Given the description of an element on the screen output the (x, y) to click on. 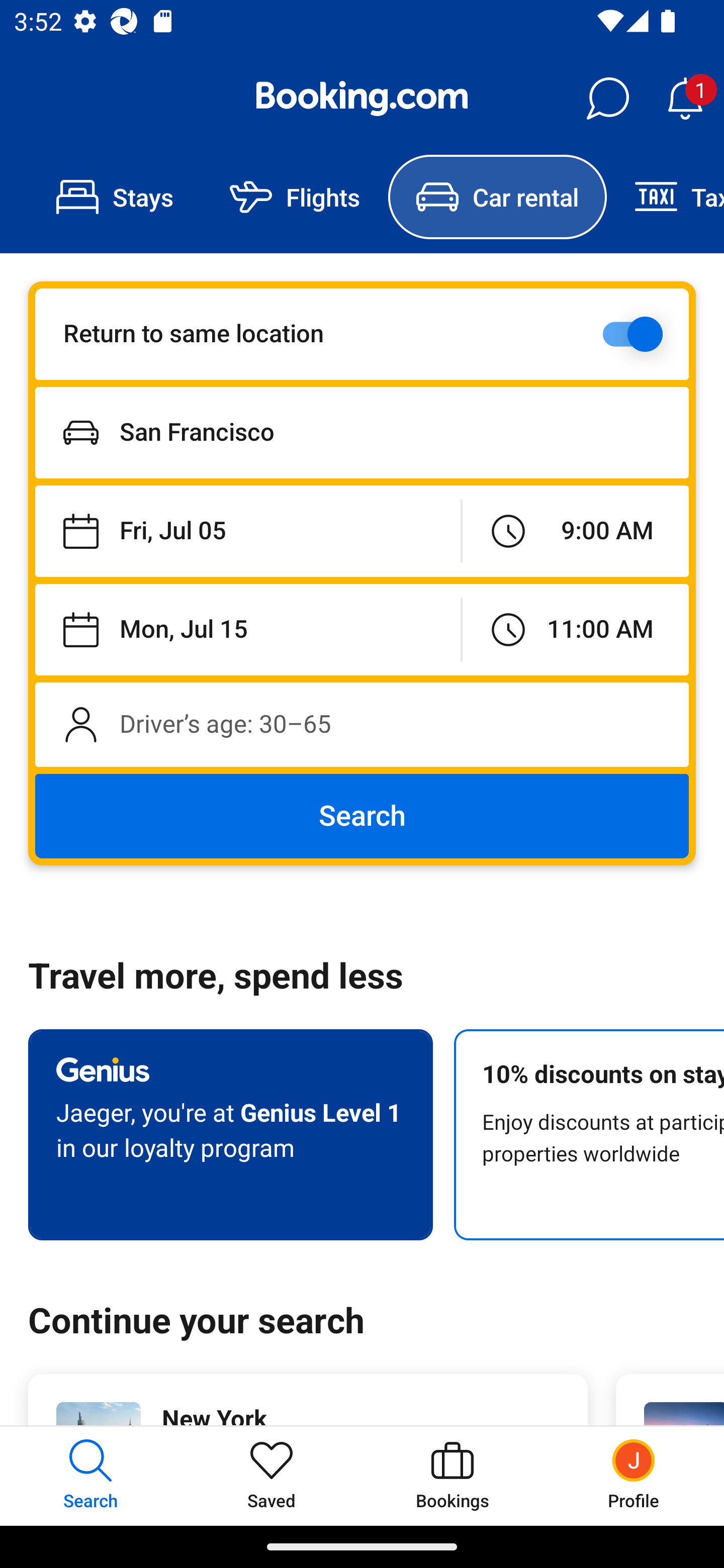
Messages (607, 98)
Notifications (685, 98)
Stays (114, 197)
Flights (294, 197)
Car rental (497, 197)
Taxi (665, 197)
Pick-up location: Text(name=San Francisco) (361, 432)
Pick-up date: 2024-07-05 (247, 531)
Pick-up time: 09:00:00.000 (575, 531)
Drop-off date: 2024-07-15 (247, 629)
Drop-off time: 11:00:00.000 (575, 629)
Enter the driver's age (361, 724)
Search (361, 815)
Saved (271, 1475)
Bookings (452, 1475)
Profile (633, 1475)
